Given the description of an element on the screen output the (x, y) to click on. 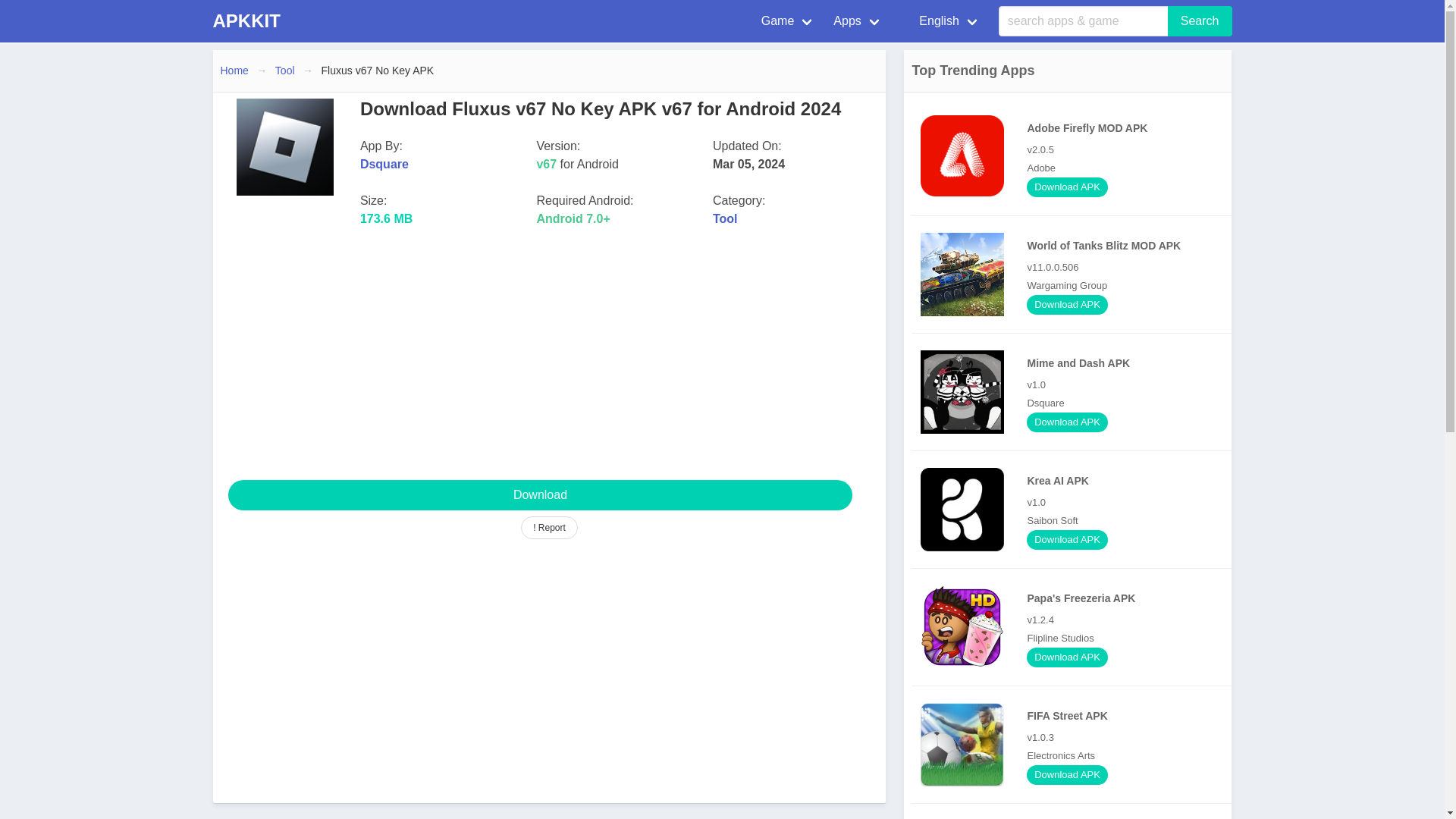
Papa's Freezeria APK (962, 627)
English (940, 21)
World of Tanks Blitz MOD APK (962, 274)
APKKIT (245, 21)
Game (788, 21)
Papa's Freezeria APK (1075, 627)
Adobe Firefly MOD APK (962, 155)
Mime and Dash APK (1075, 392)
Report Problem for this APP (549, 527)
Download Fluxus v67 No Key APK v67 for Android 2024 (539, 494)
Download Fluxus v67 No Key APK v67 for Android 2024 icon (284, 146)
Krea AI APK (1075, 509)
Krea AI APK (962, 509)
